Given the description of an element on the screen output the (x, y) to click on. 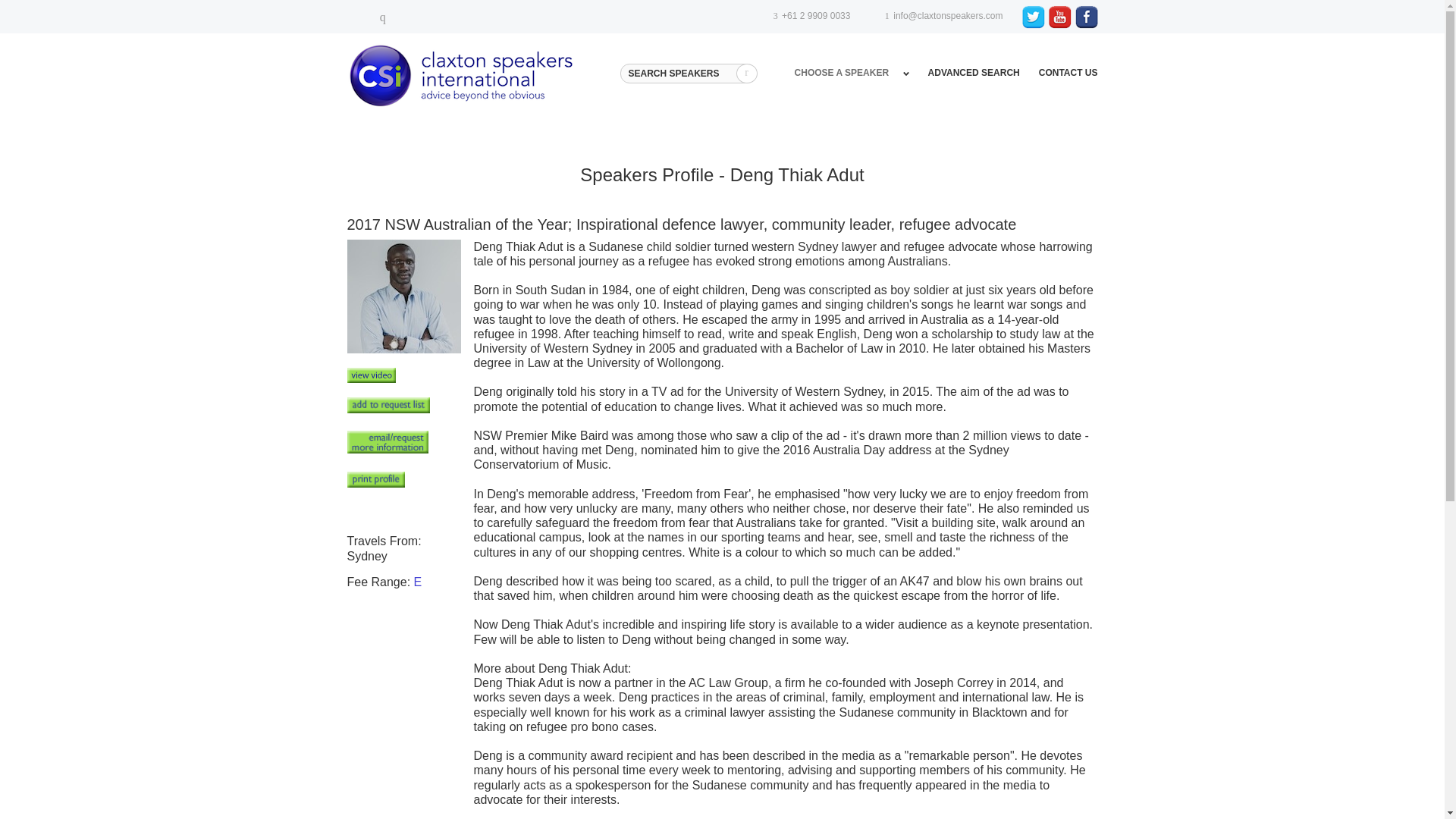
CONTACT US (1068, 72)
SEARCH SPEAKERS (687, 73)
ADVANCED SEARCH (974, 72)
SEARCH SPEAKERS (687, 73)
